Given the description of an element on the screen output the (x, y) to click on. 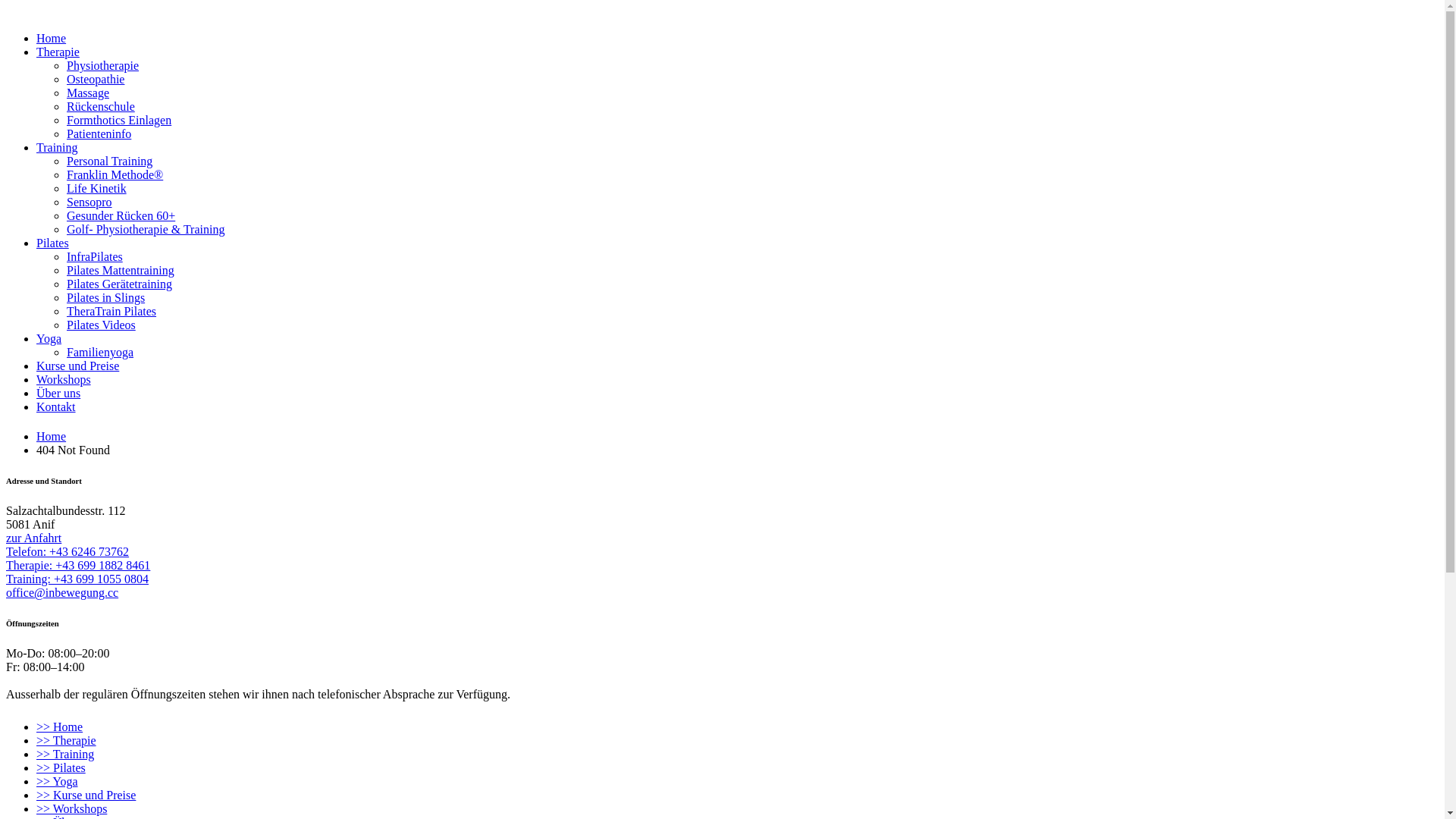
Physiotherapie Element type: text (102, 65)
Pilates Videos Element type: text (100, 324)
Pilates Element type: text (52, 242)
Telefon: +43 6246 73762 Element type: text (67, 551)
Osteopathie Element type: text (95, 78)
Patienteninfo Element type: text (98, 133)
Sensopro Element type: text (89, 201)
>> Therapie Element type: text (66, 740)
>> Kurse und Preise Element type: text (85, 794)
>> Home Element type: text (59, 726)
Pilates Mattentraining Element type: text (120, 269)
Personal Training Element type: text (109, 160)
>> Pilates Element type: text (60, 767)
Training Element type: text (57, 147)
Home Element type: text (50, 435)
Golf- Physiotherapie & Training Element type: text (145, 228)
Kontakt Element type: text (55, 406)
Massage Element type: text (87, 92)
InfraPilates Element type: text (94, 256)
>> Workshops Element type: text (71, 808)
Workshops Element type: text (63, 379)
zur Anfahrt Element type: text (33, 537)
Life Kinetik Element type: text (96, 188)
Therapie Element type: text (57, 51)
Yoga Element type: text (48, 338)
Home Element type: text (50, 37)
Familienyoga Element type: text (99, 351)
>> Yoga Element type: text (57, 781)
Formthotics Einlagen Element type: text (118, 119)
Therapie: +43 699 1882 8461 Element type: text (78, 564)
office@inbewegung.cc Element type: text (62, 592)
TheraTrain Pilates Element type: text (111, 310)
Pilates in Slings Element type: text (105, 297)
Kurse und Preise Element type: text (77, 365)
Training: +43 699 1055 0804 Element type: text (77, 578)
>> Training Element type: text (65, 753)
